Given the description of an element on the screen output the (x, y) to click on. 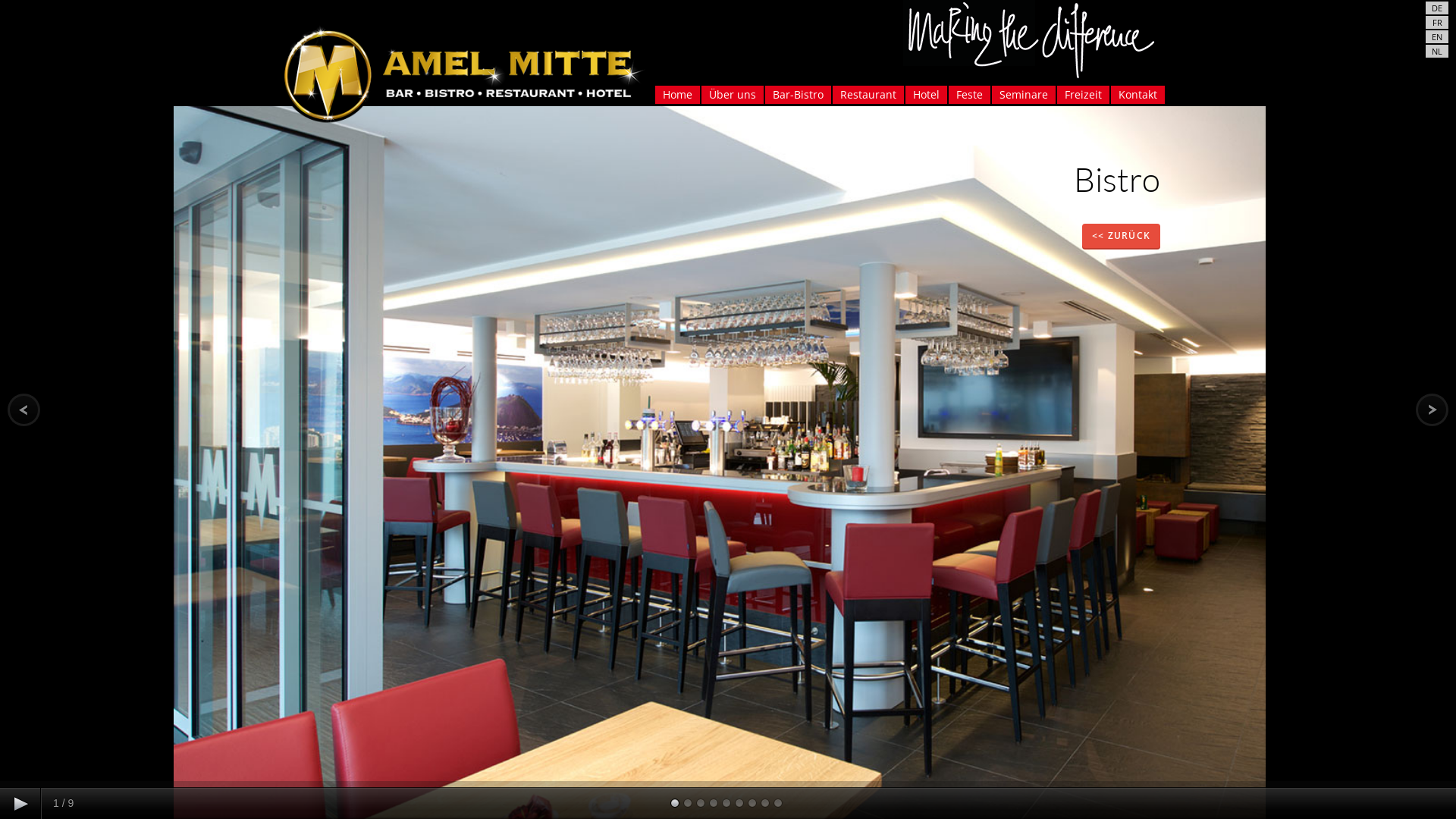
DE Element type: text (1436, 7)
FR Element type: text (1436, 22)
NL Element type: text (1436, 50)
Seminare Element type: text (1023, 94)
EN Element type: text (1436, 36)
Restaurant Element type: text (867, 94)
Kontakt Element type: text (1137, 94)
Hotel Element type: text (926, 94)
Bar-Bistro Element type: text (797, 94)
Freizeit Element type: text (1083, 94)
Home Element type: text (677, 94)
Feste Element type: text (968, 94)
